Given the description of an element on the screen output the (x, y) to click on. 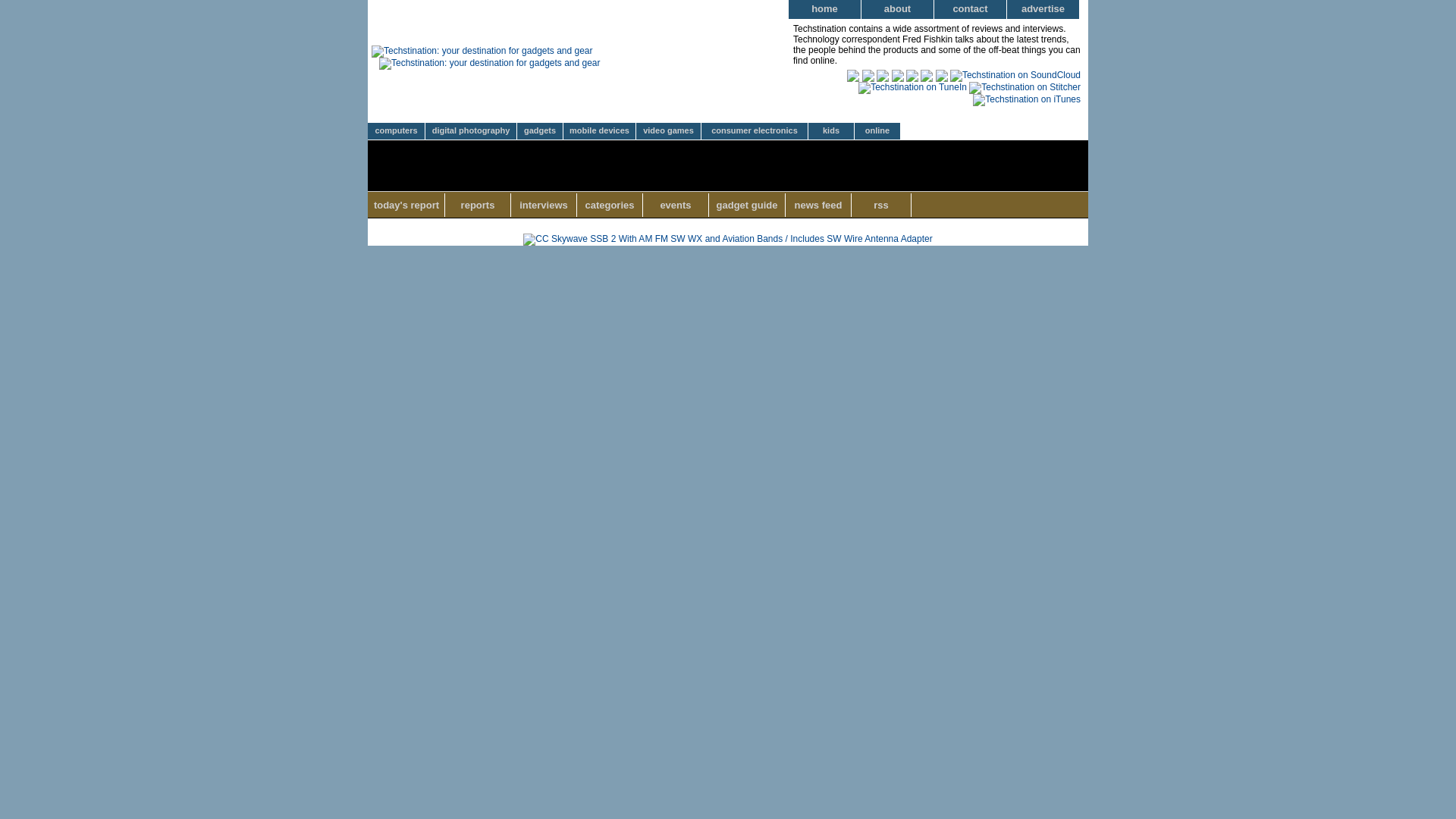
Listen to Techstination on Anchor.fm (853, 74)
Listen to Techstination on Spreaker (882, 74)
Visit Techstination on TuneIn (912, 86)
mobile devices (599, 131)
Visit our sponsor: C. Crane Company, Inc. (726, 238)
reports (478, 205)
Visit Techstination on iTunes (1026, 99)
categories (609, 205)
consumer electronics (754, 131)
video games (668, 131)
